Given the description of an element on the screen output the (x, y) to click on. 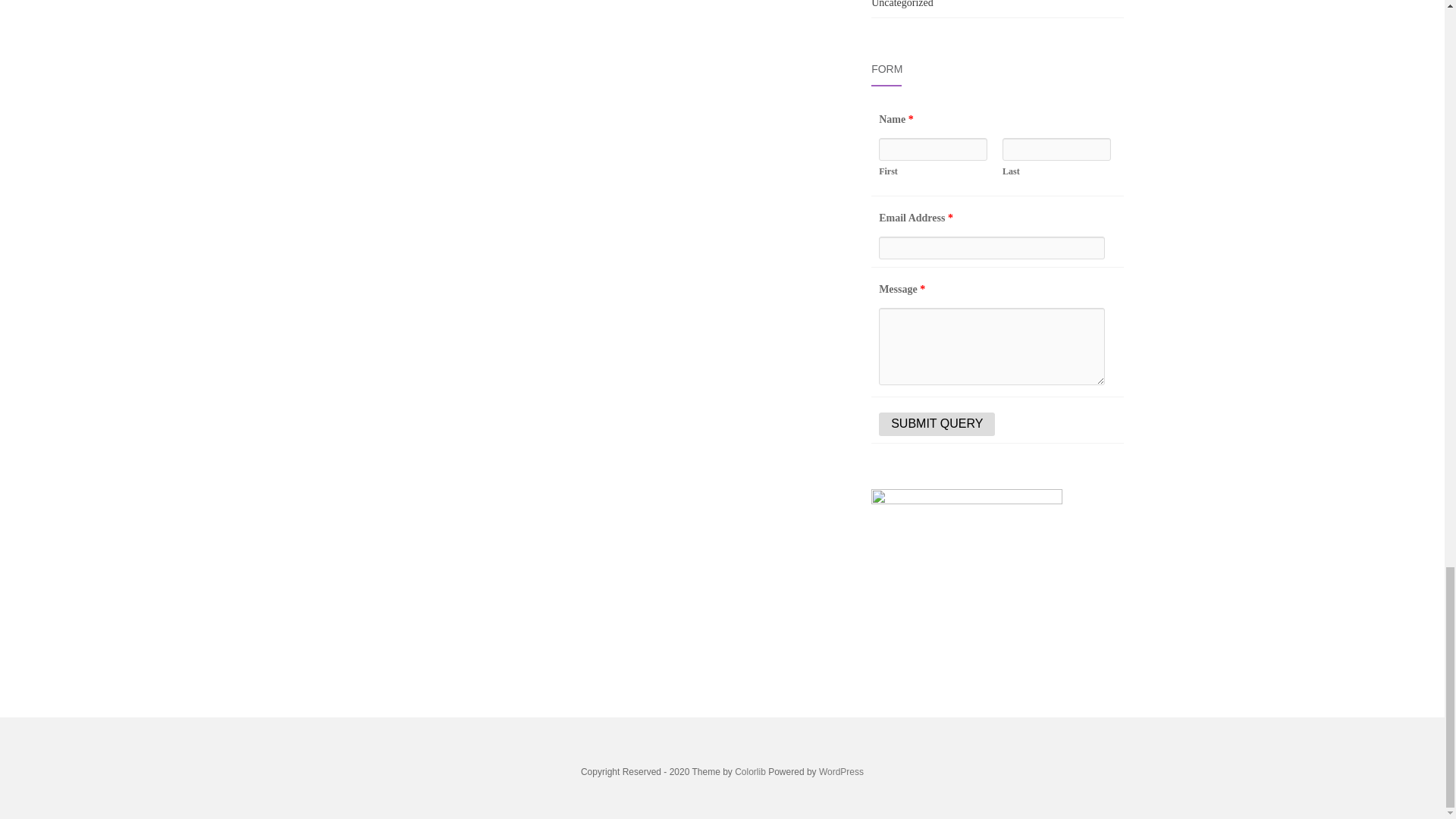
Submit Query (936, 423)
